Given the description of an element on the screen output the (x, y) to click on. 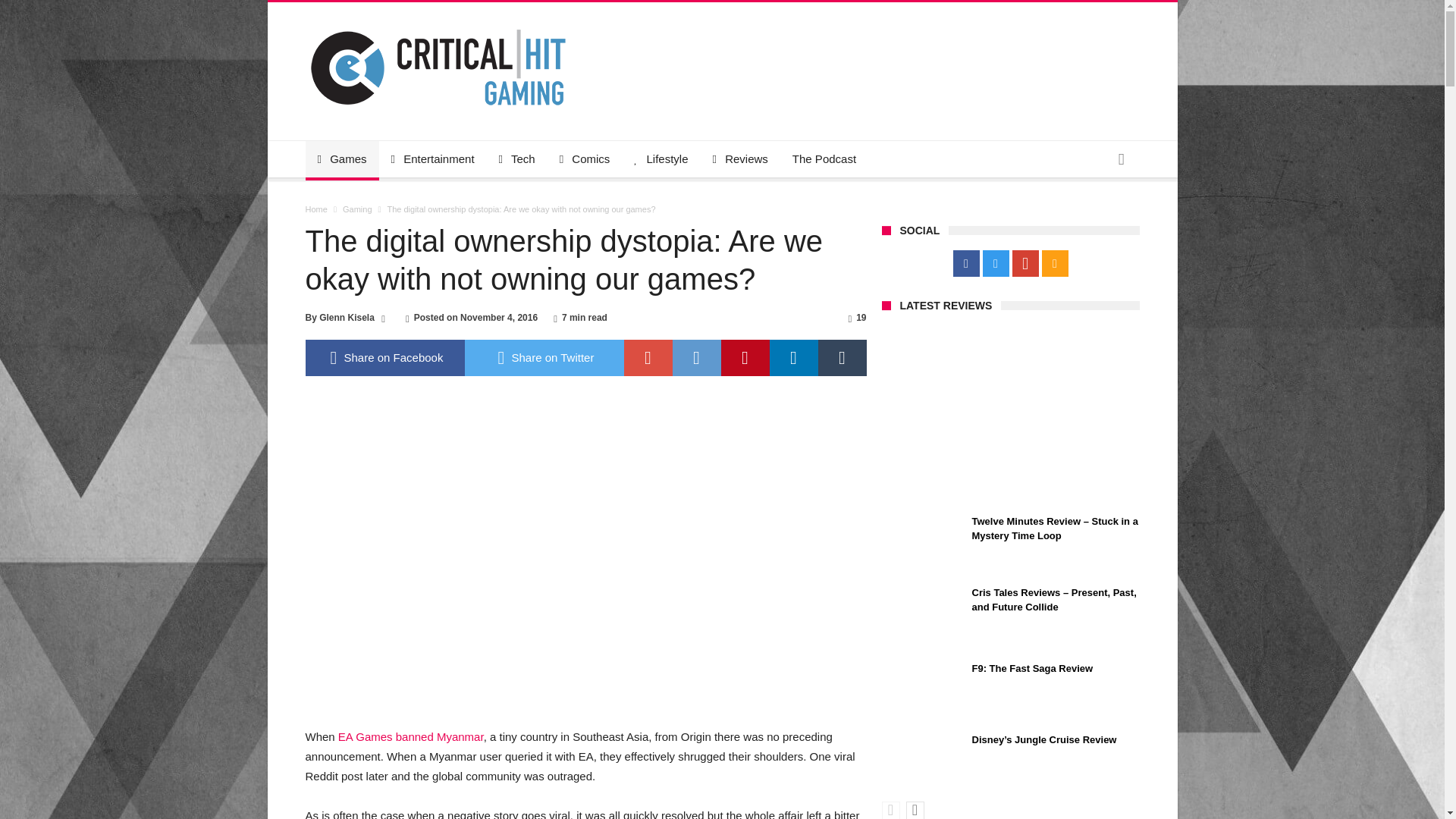
twitter (543, 357)
linkedin (792, 357)
Reviews (740, 158)
Entertainment (432, 158)
Gaming (357, 208)
google (647, 357)
Share on Linkedin (792, 357)
Share on Twitter (543, 357)
The Podcast (823, 158)
pinterest (744, 357)
19 (861, 317)
Games (341, 158)
Share on Pinterest (744, 357)
Lifestyle (660, 158)
Share on Reddit (695, 357)
